Given the description of an element on the screen output the (x, y) to click on. 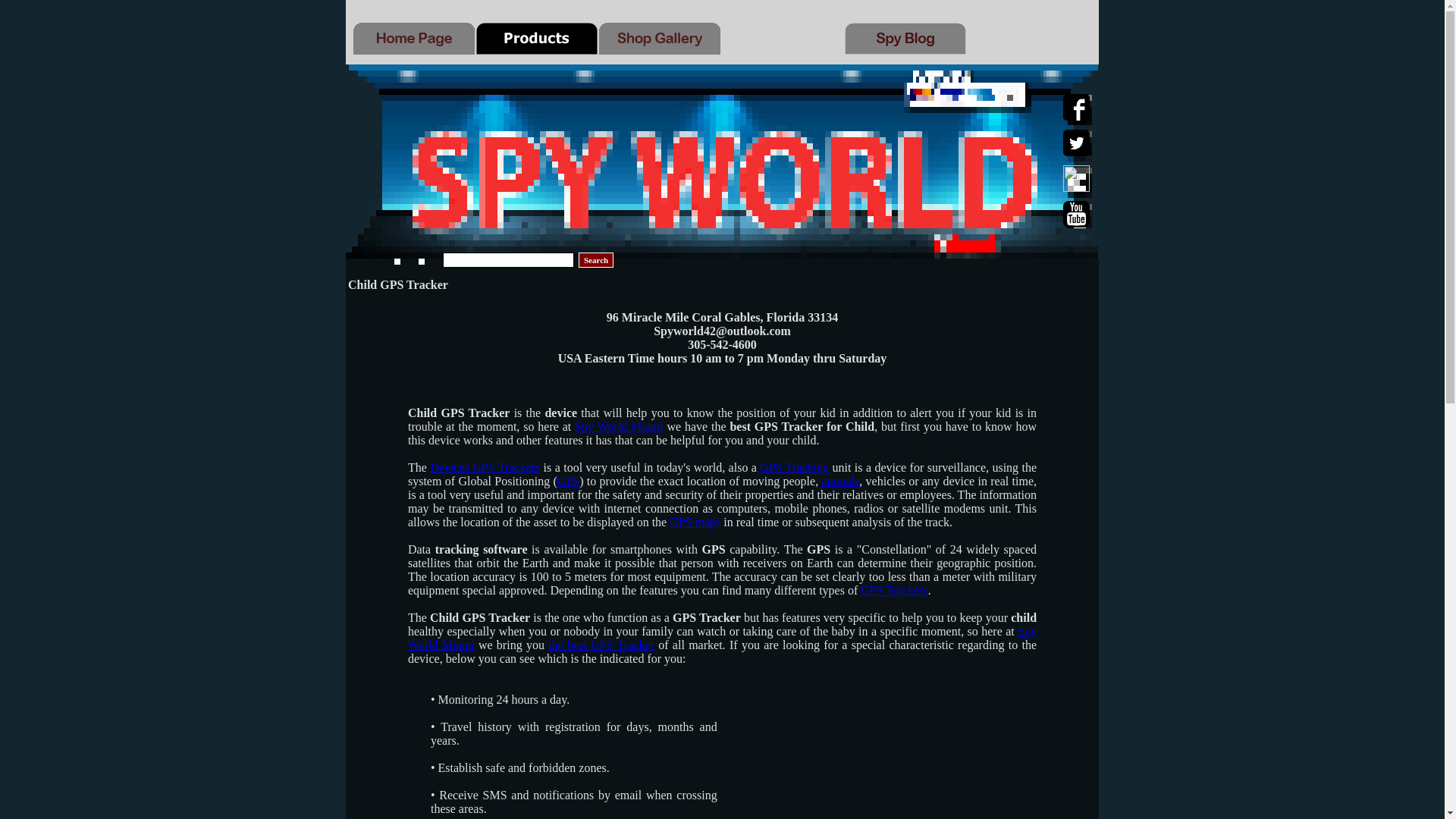
the best GPS Tracker (600, 644)
Devices GPS Trackers (484, 467)
What is a GPS Tracker? (893, 590)
Spy World Miami (721, 637)
GPS Trackers (893, 590)
GPS Tracking (794, 467)
GPS maps (694, 521)
GPS (568, 481)
What is a GPS Tracker? (794, 467)
Spy World Miami (619, 426)
animals (841, 481)
